Given the description of an element on the screen output the (x, y) to click on. 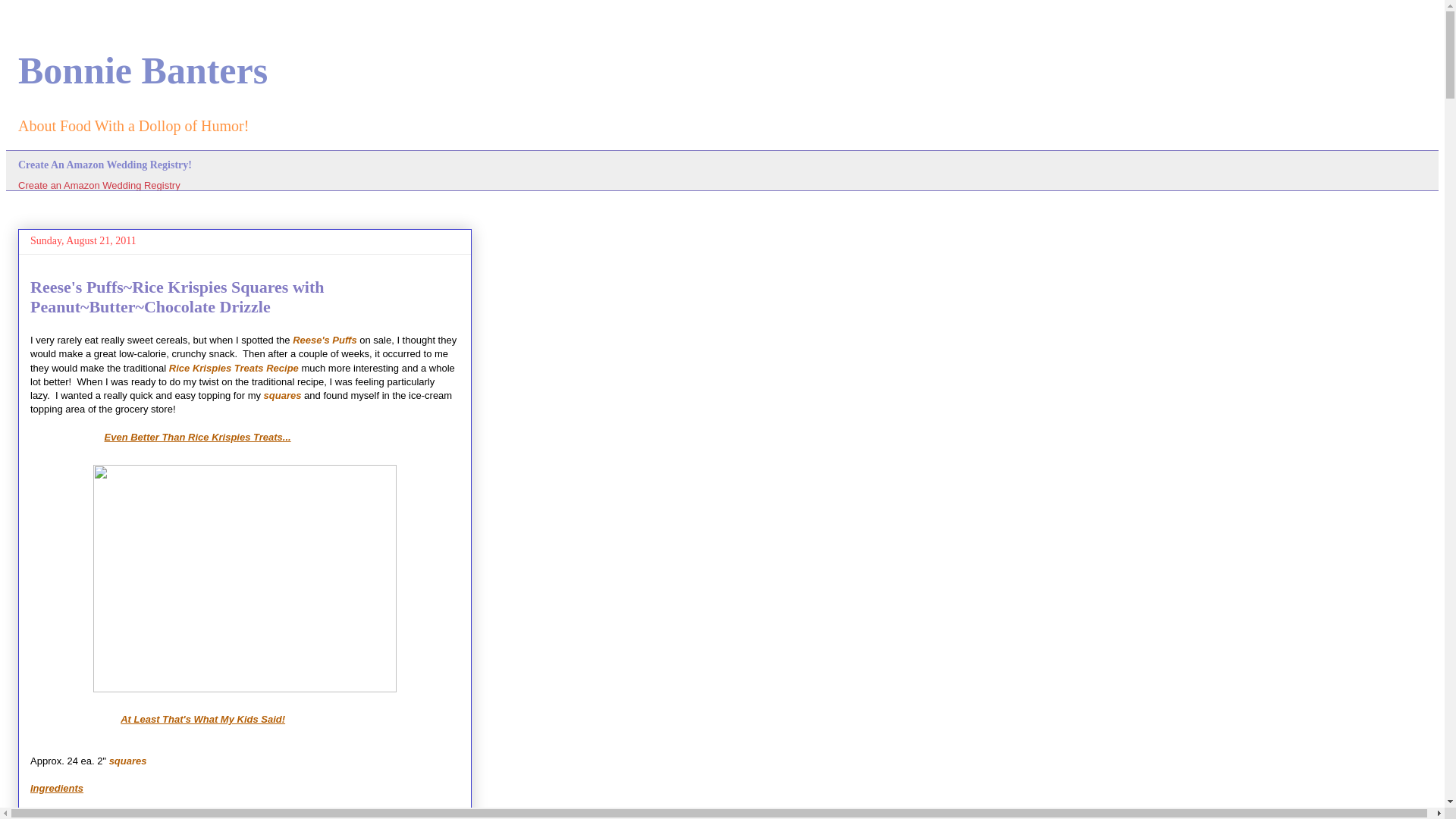
Create an Amazon Wedding Registry (98, 184)
Bonnie Banters (142, 69)
